Given the description of an element on the screen output the (x, y) to click on. 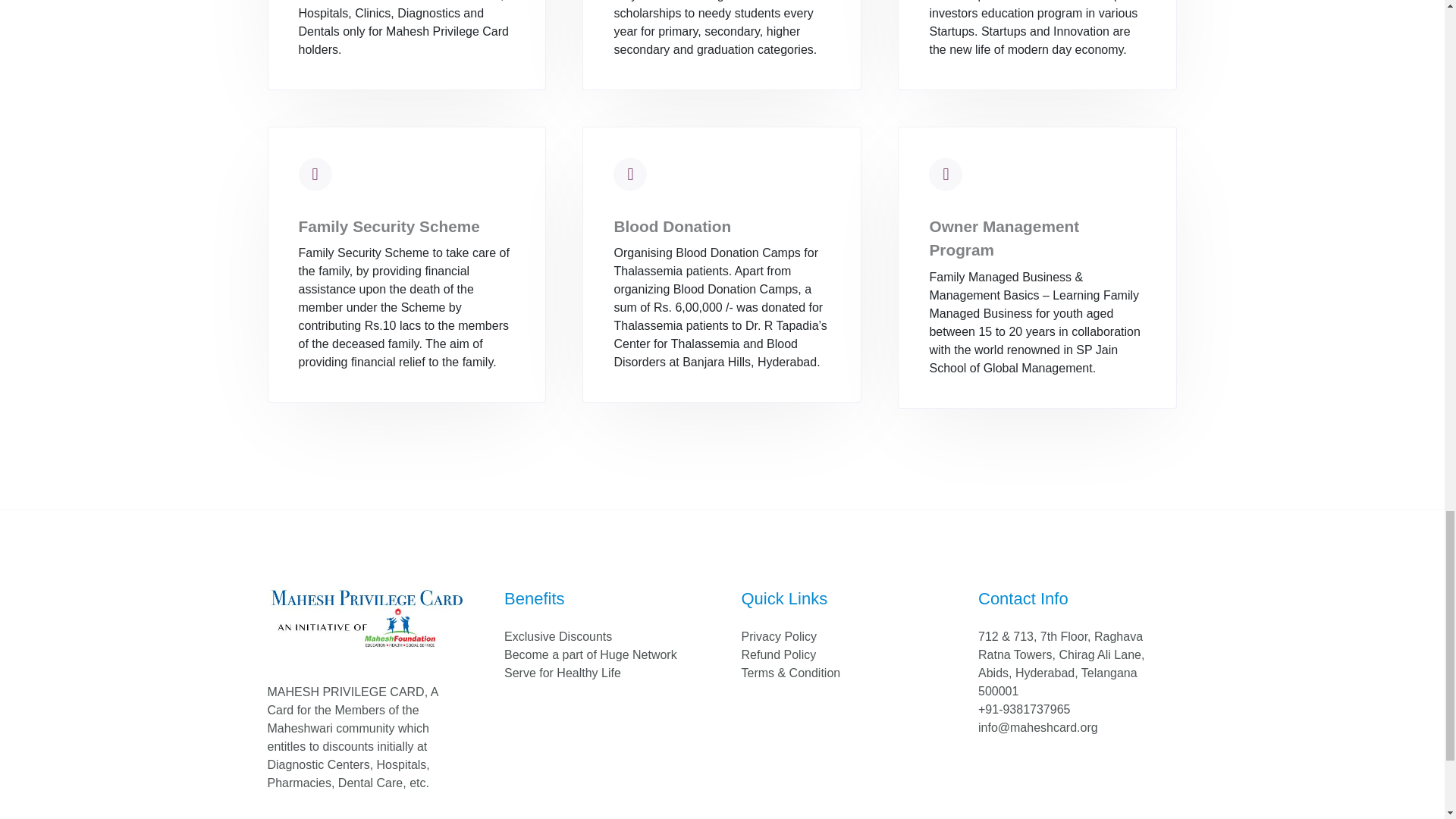
Family Security Scheme (389, 226)
Refund Policy (778, 654)
Blood Donation (671, 226)
Owner Management Program (1003, 237)
Privacy Policy (778, 635)
Become a part of Huge Network (590, 654)
Exclusive Discounts (557, 635)
Serve for Healthy Life (562, 672)
